Given the description of an element on the screen output the (x, y) to click on. 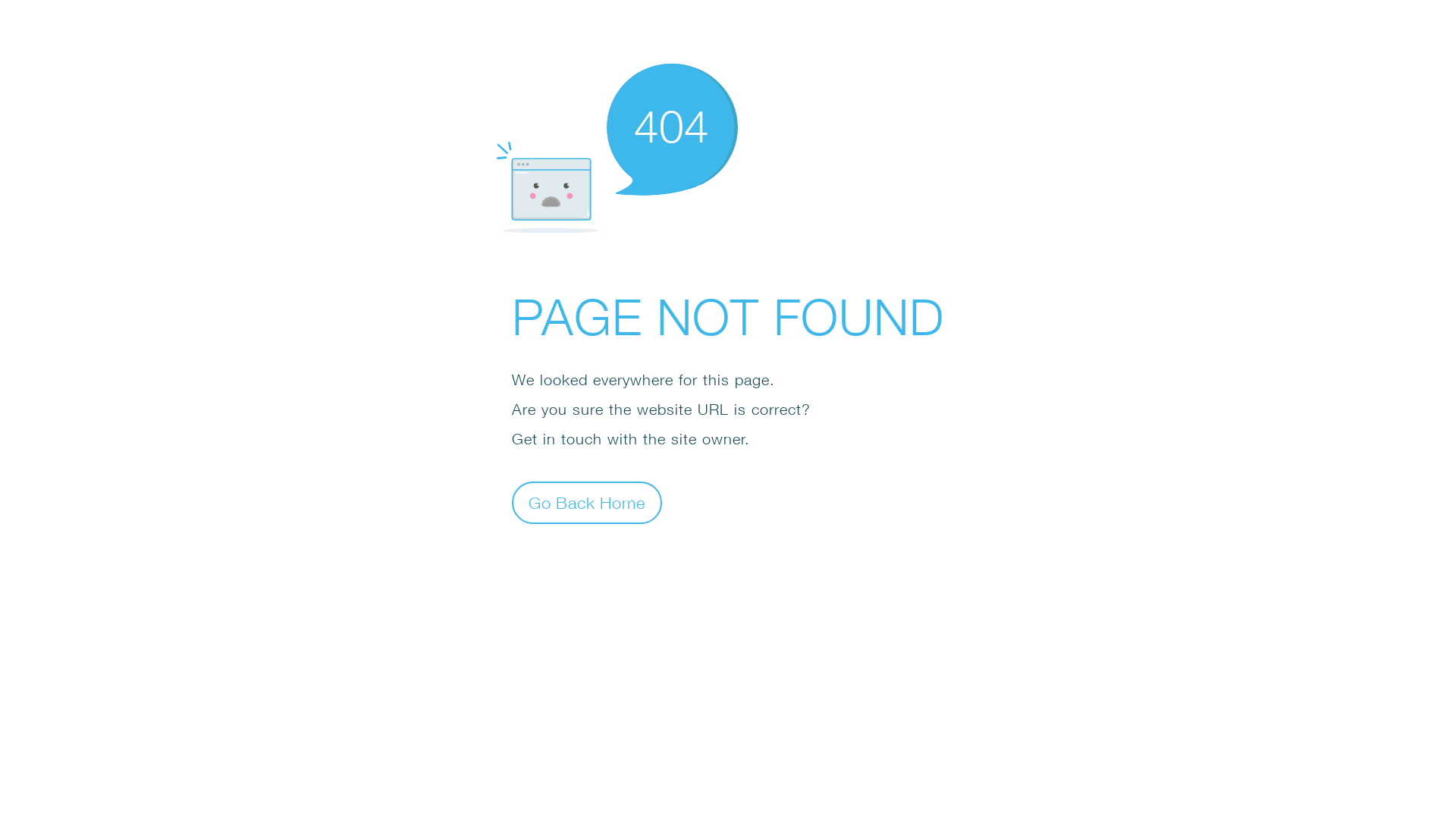
Go Back Home Element type: text (586, 502)
